Given the description of an element on the screen output the (x, y) to click on. 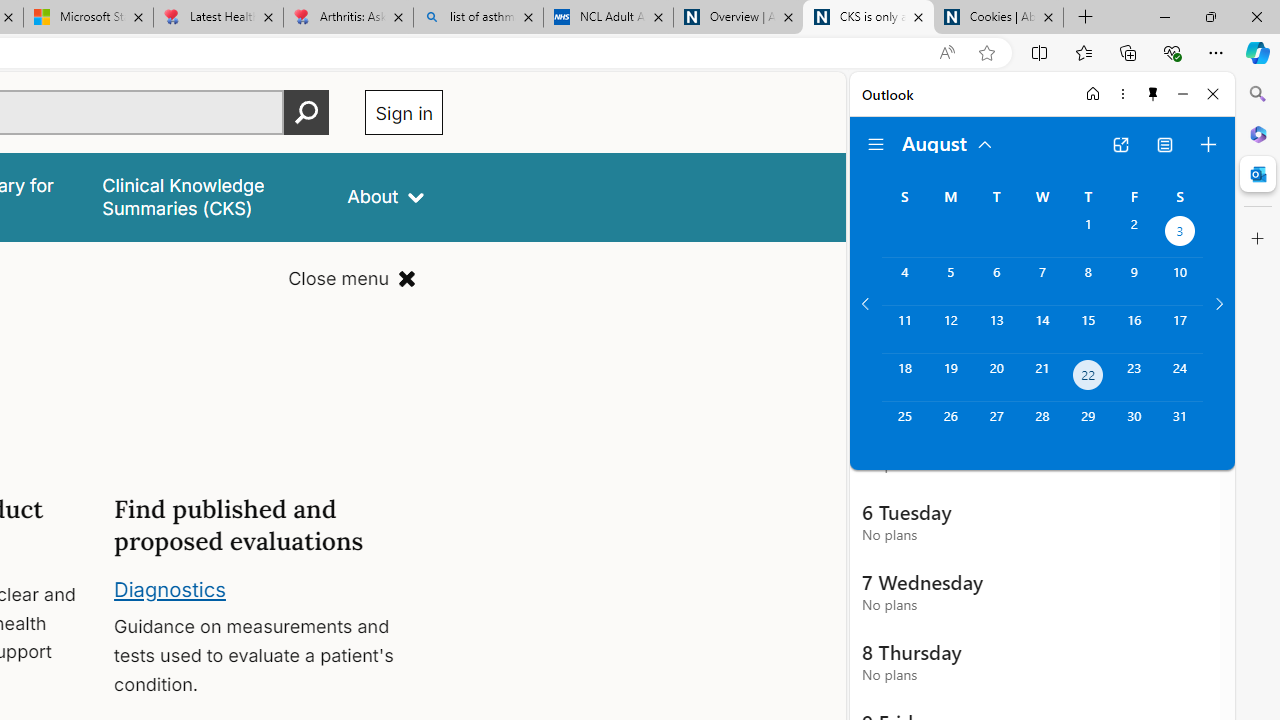
Tuesday, August 27, 2024.  (996, 425)
Create event (1208, 144)
Monday, August 26, 2024.  (950, 425)
Sunday, August 11, 2024.  (904, 329)
Tuesday, August 6, 2024.  (996, 281)
Folder navigation (876, 144)
